Given the description of an element on the screen output the (x, y) to click on. 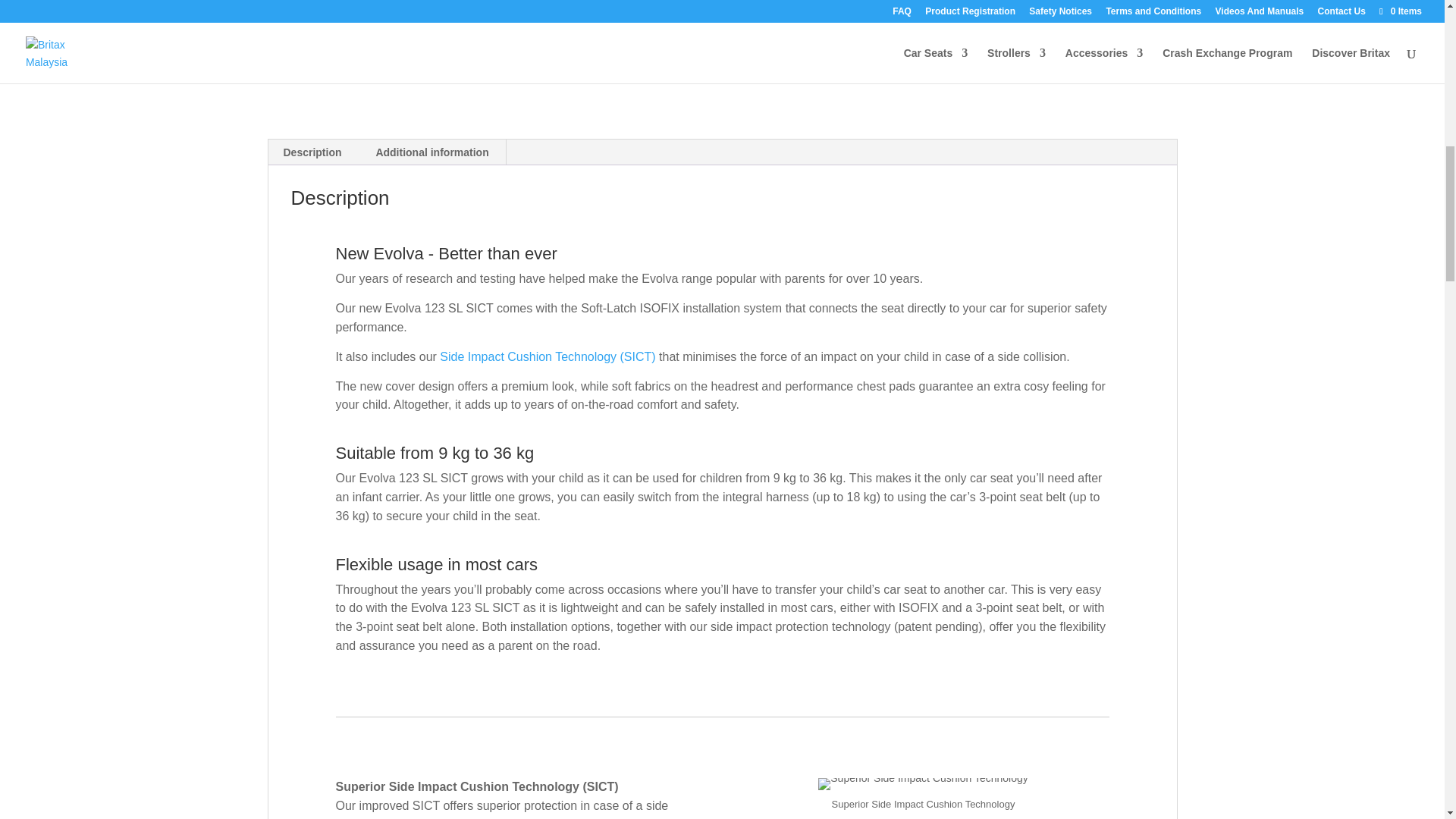
SICT (922, 784)
